Given the description of an element on the screen output the (x, y) to click on. 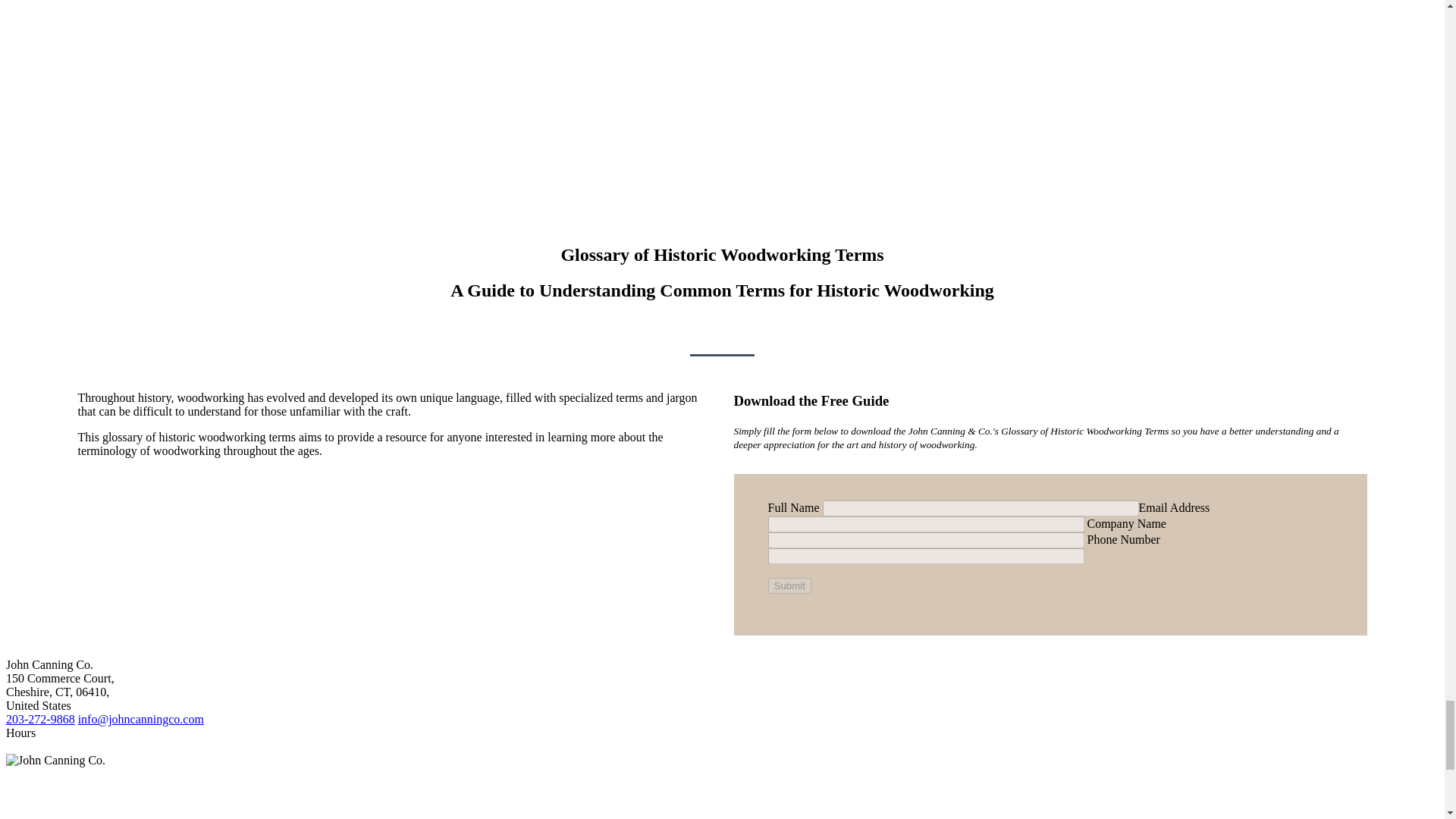
Historic Woodwork Glossary (721, 103)
Submit (788, 585)
